Given the description of an element on the screen output the (x, y) to click on. 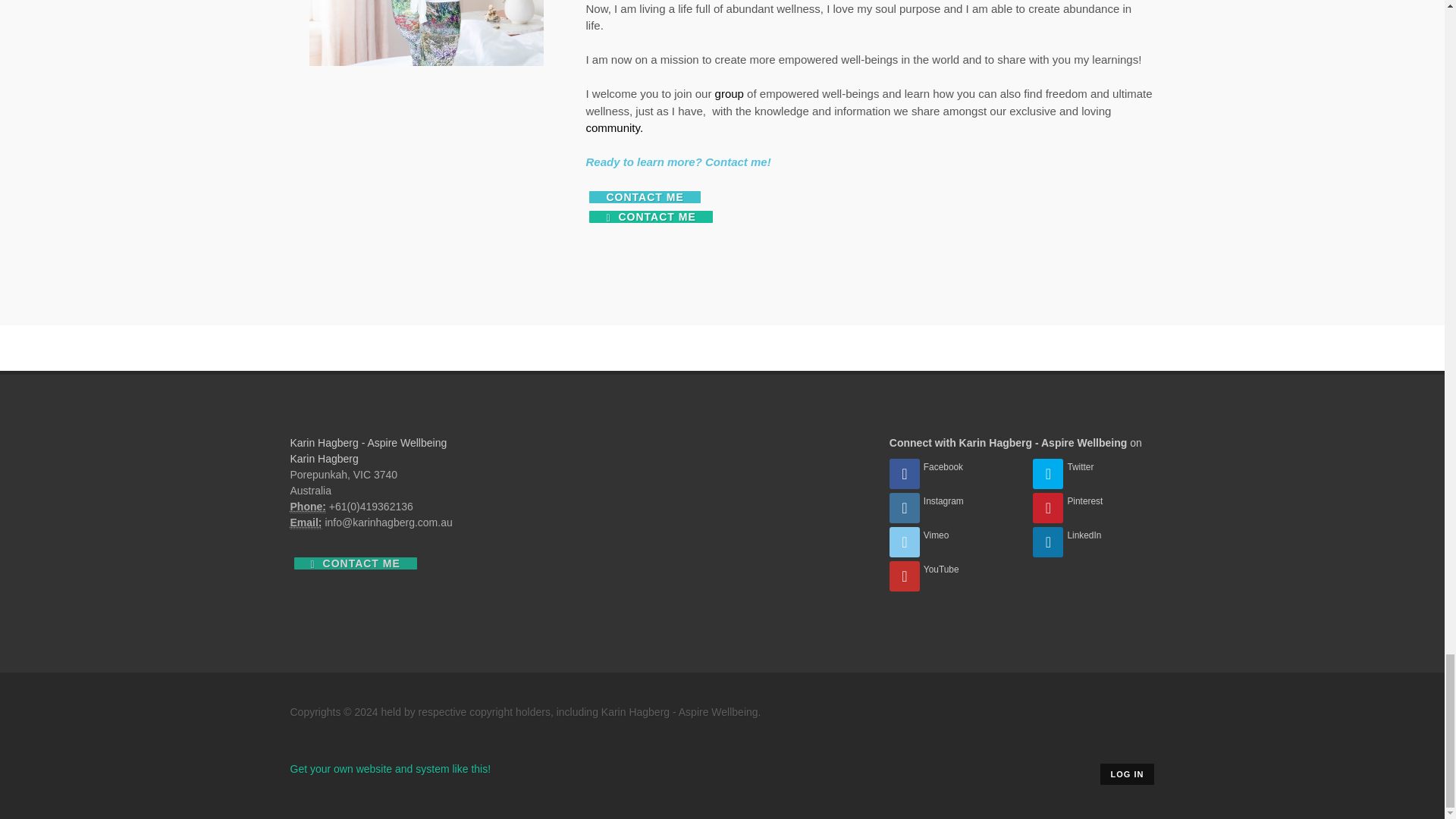
Email Address (305, 522)
Phone Number (306, 506)
